Given the description of an element on the screen output the (x, y) to click on. 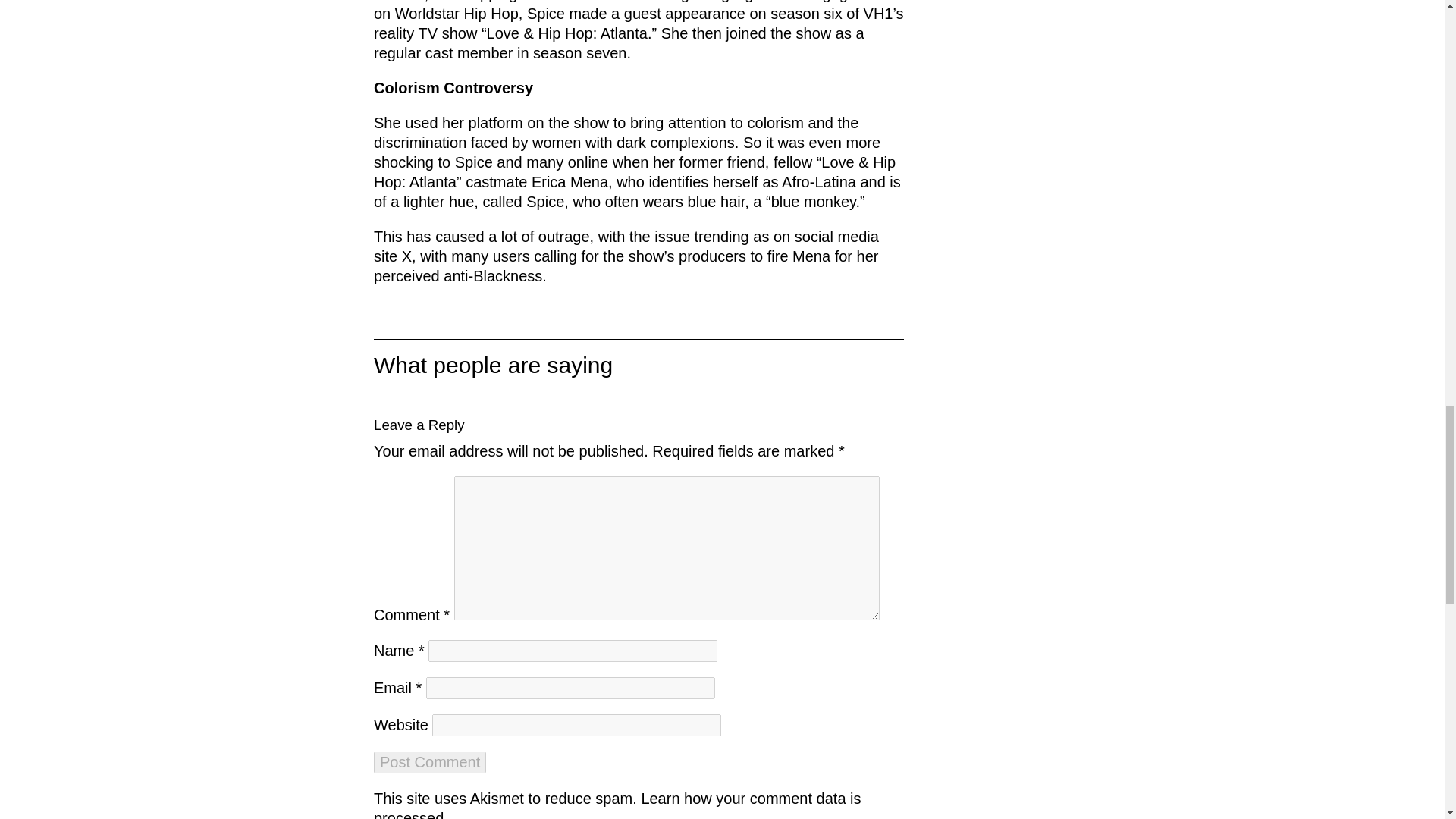
Post Comment (430, 762)
Post Comment (430, 762)
